Given the description of an element on the screen output the (x, y) to click on. 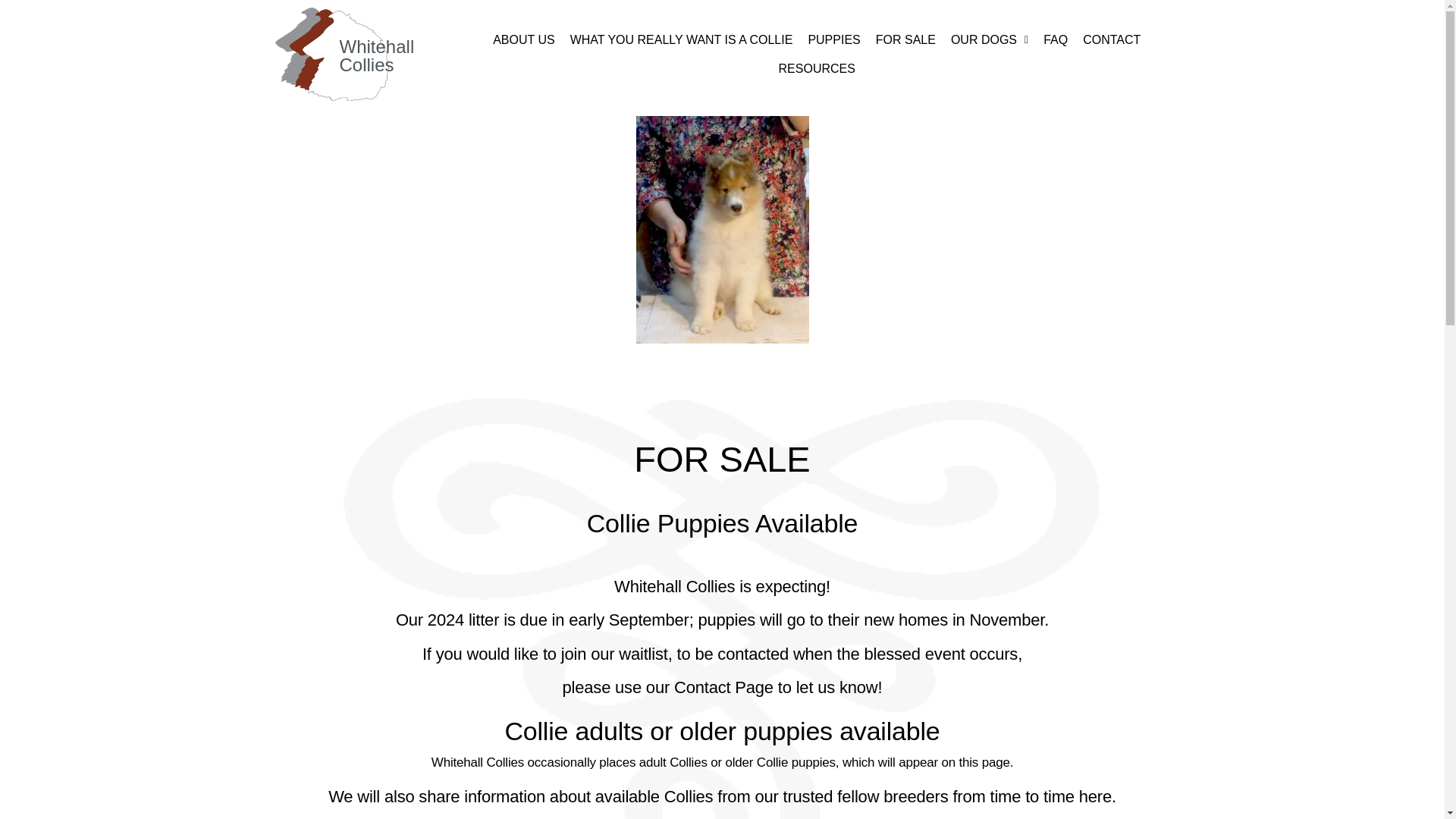
FOR SALE (905, 39)
ABOUT US (523, 39)
WHAT YOU REALLY WANT IS A COLLIE (681, 39)
RESOURCES (817, 68)
FAQ (1055, 39)
PUPPIES (833, 39)
OUR DOGS (989, 39)
CONTACT (1111, 39)
